Given the description of an element on the screen output the (x, y) to click on. 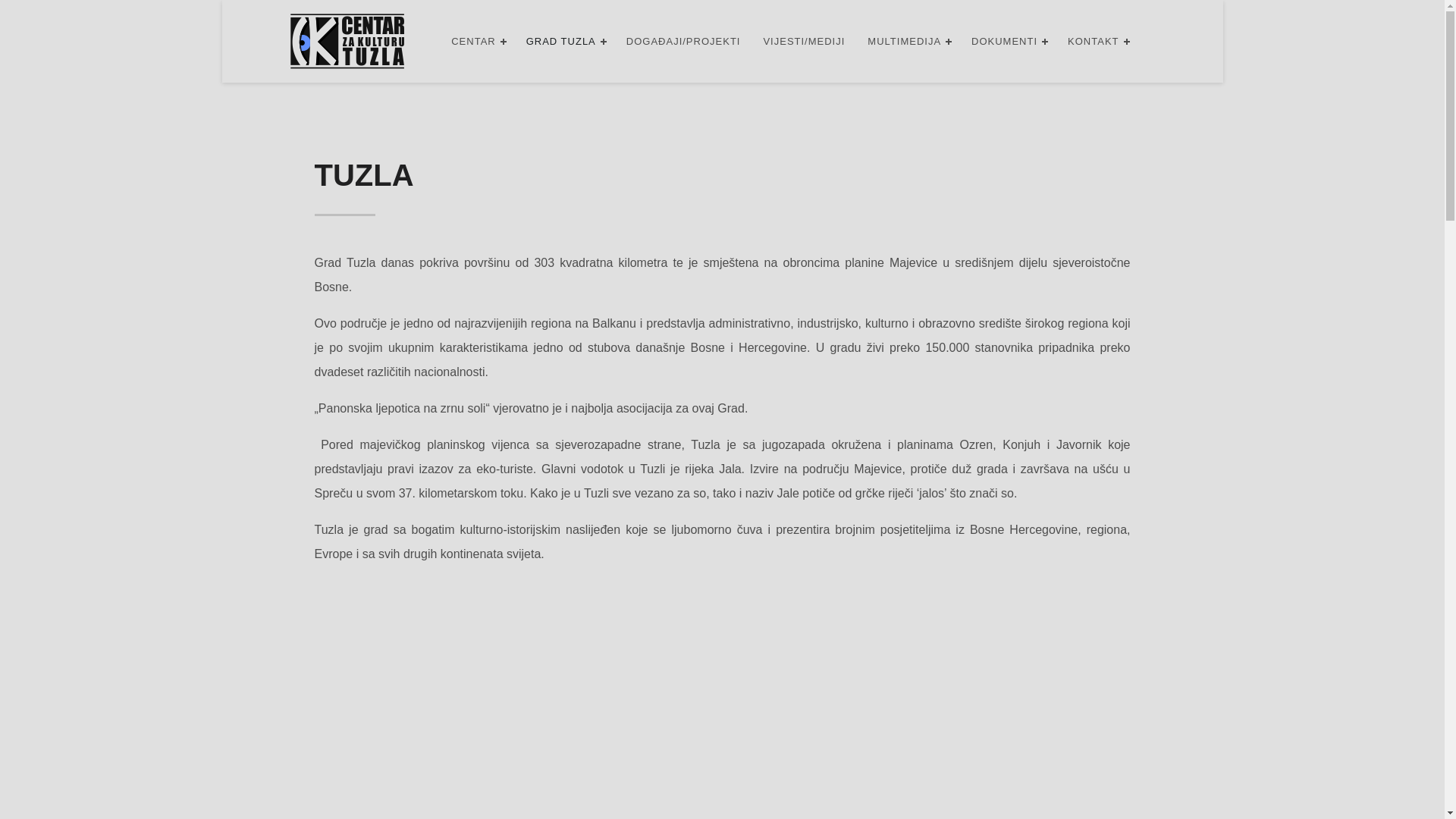
DOKUMENTI Element type: text (1004, 40)
VIJESTI/MEDIJI Element type: text (803, 40)
CENTAR Element type: text (472, 40)
KONTAKT Element type: text (1092, 40)
MULTIMEDIJA Element type: text (903, 40)
GRAD TUZLA Element type: text (560, 40)
